Given the description of an element on the screen output the (x, y) to click on. 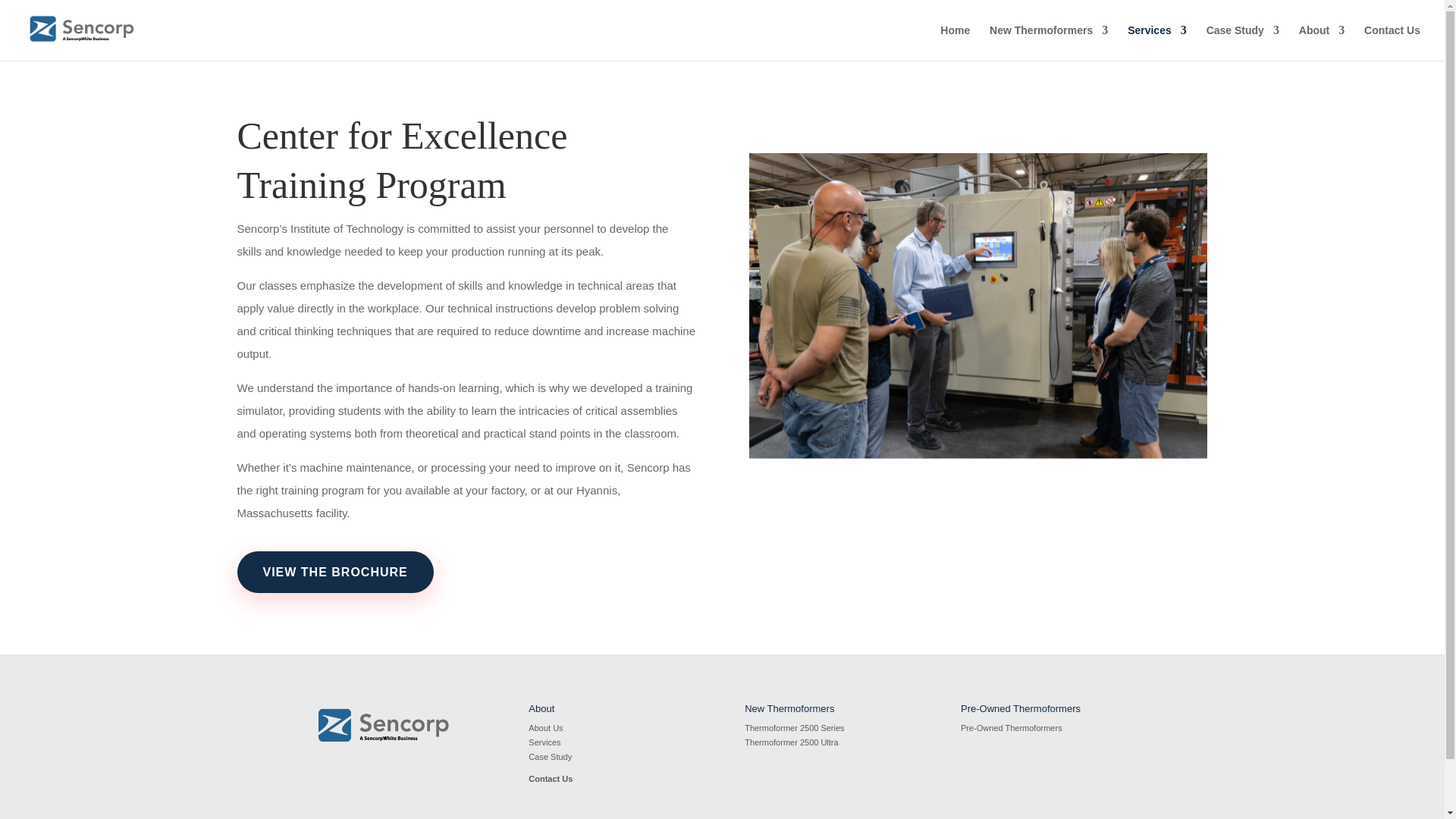
Pre-Owned Thermoformers (1011, 727)
Services (1156, 42)
Contact Us (1392, 42)
Services (544, 741)
About (1320, 42)
About Us (545, 727)
Thermoformer 2500 Series (794, 727)
Case Study (1243, 42)
New Thermoformers (1049, 42)
